Given the description of an element on the screen output the (x, y) to click on. 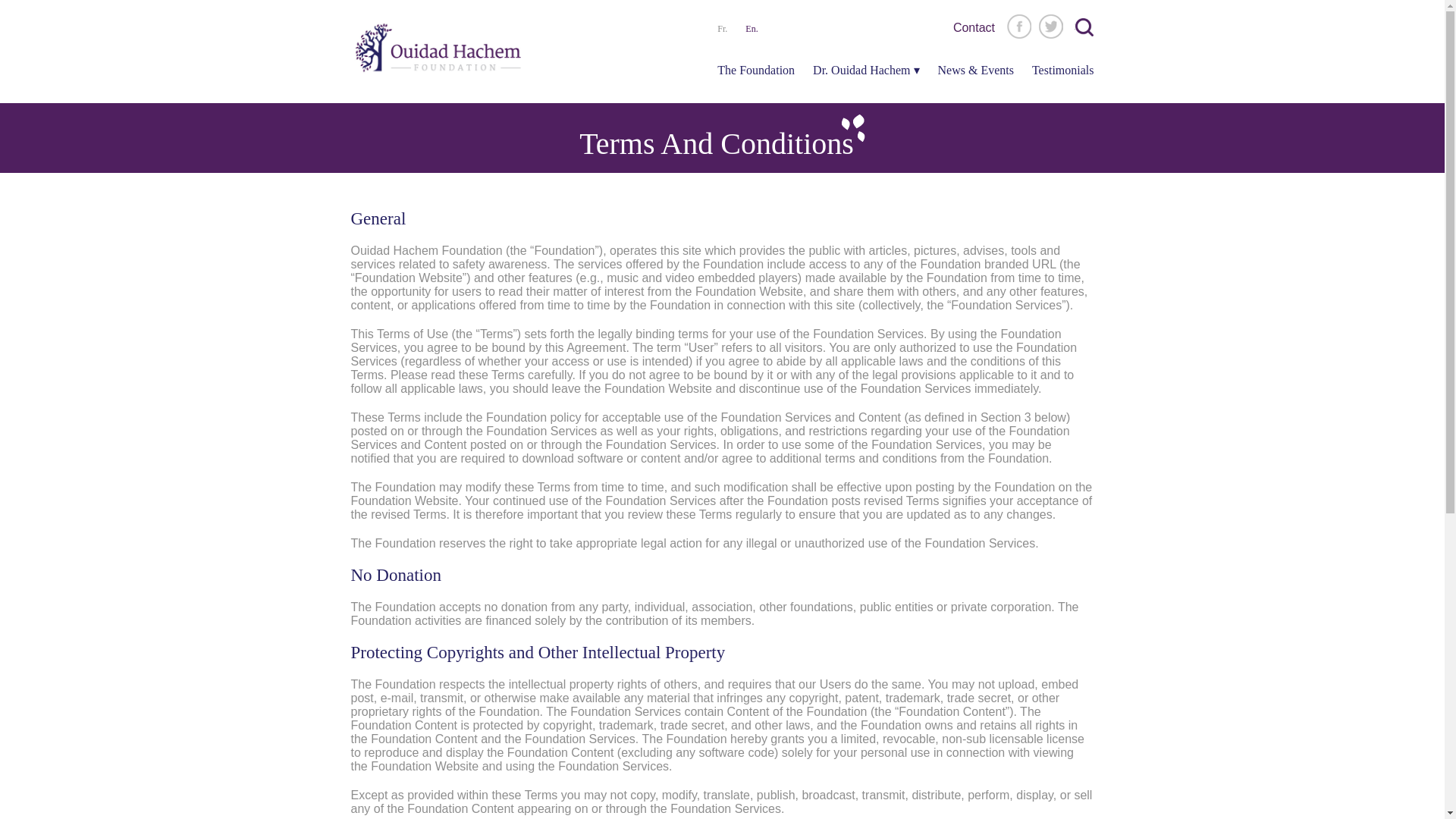
Dr. Ouidad Hachem (865, 73)
En. (751, 27)
Ouidad Hachem (437, 51)
The Foundation (755, 73)
Fr. (721, 27)
Ouidad Hachem (437, 51)
Contact (973, 28)
Testimonials (1063, 73)
